Given the description of an element on the screen output the (x, y) to click on. 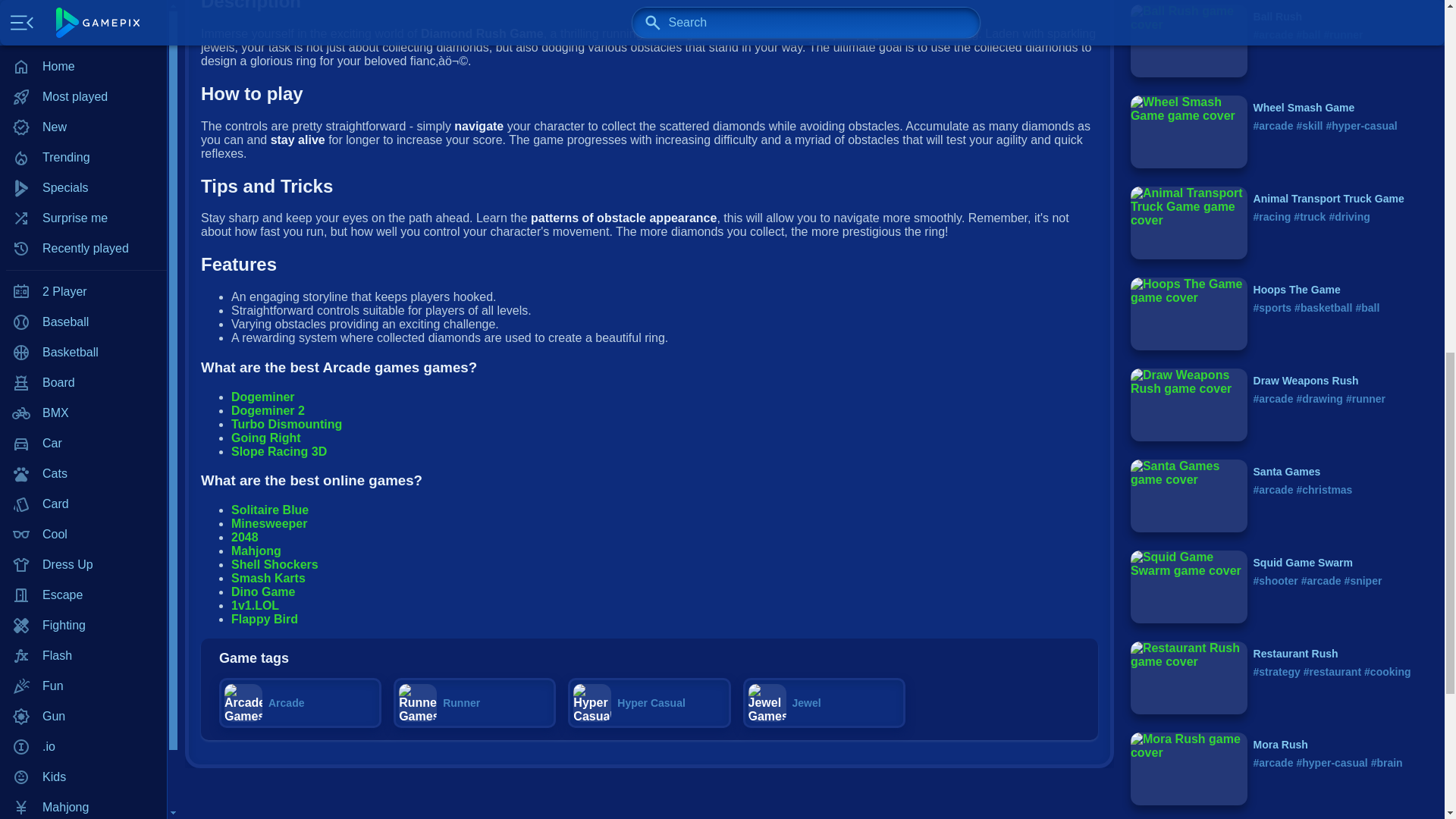
Math (83, 49)
Mahjong (83, 2)
Mario (83, 19)
Snake (83, 261)
Poker (83, 79)
Zombie (83, 382)
Racing (83, 140)
Shooter (83, 200)
Solitaire (83, 231)
War (83, 322)
RPG (83, 170)
Word (83, 352)
Soccer (83, 291)
Puzzle (83, 110)
